Given the description of an element on the screen output the (x, y) to click on. 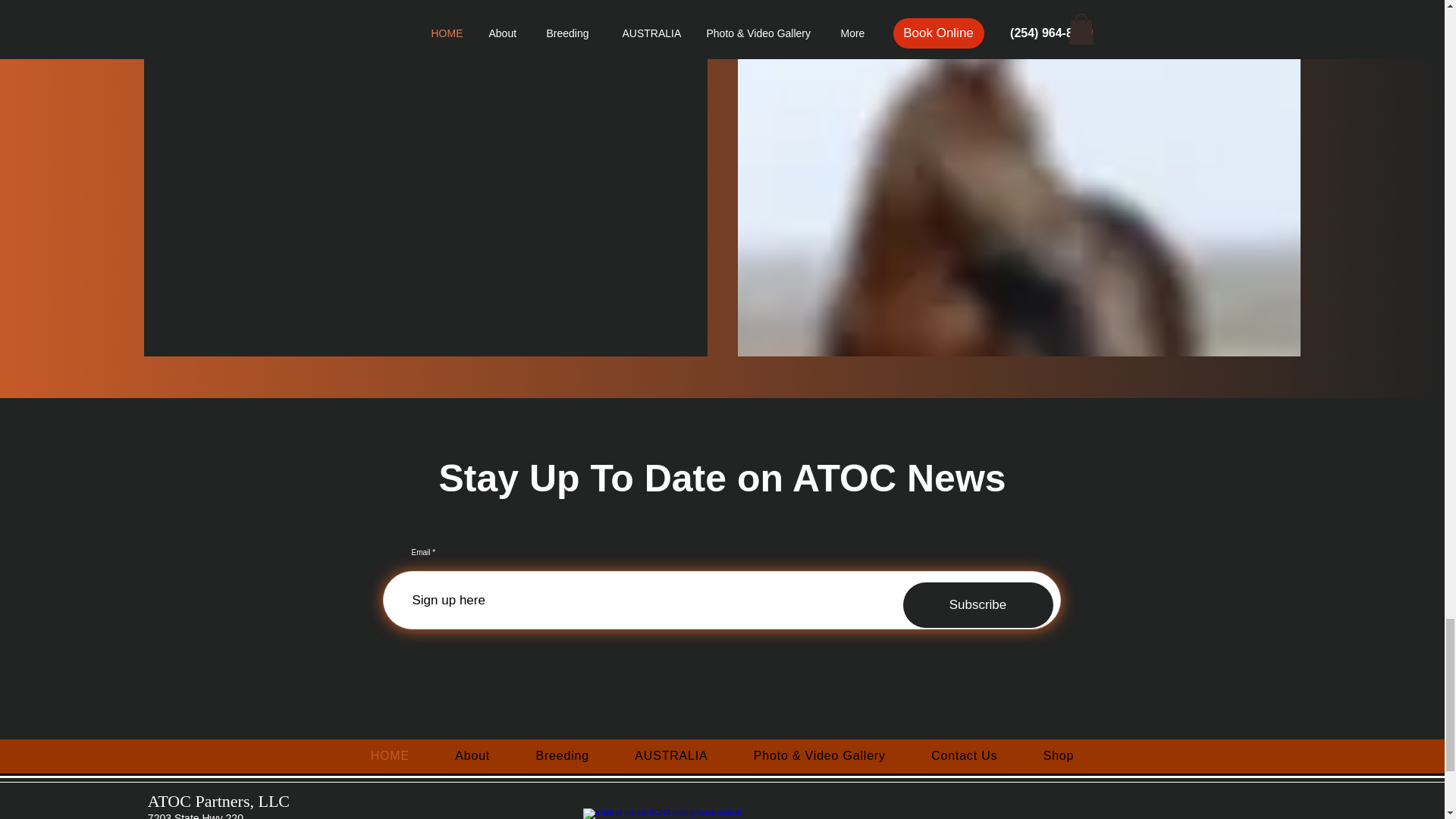
AUSTRALIA (671, 756)
Breeding (561, 756)
Subscribe (977, 605)
About (472, 756)
HOME (389, 756)
Contact Us (964, 756)
Shop (1058, 756)
